Given the description of an element on the screen output the (x, y) to click on. 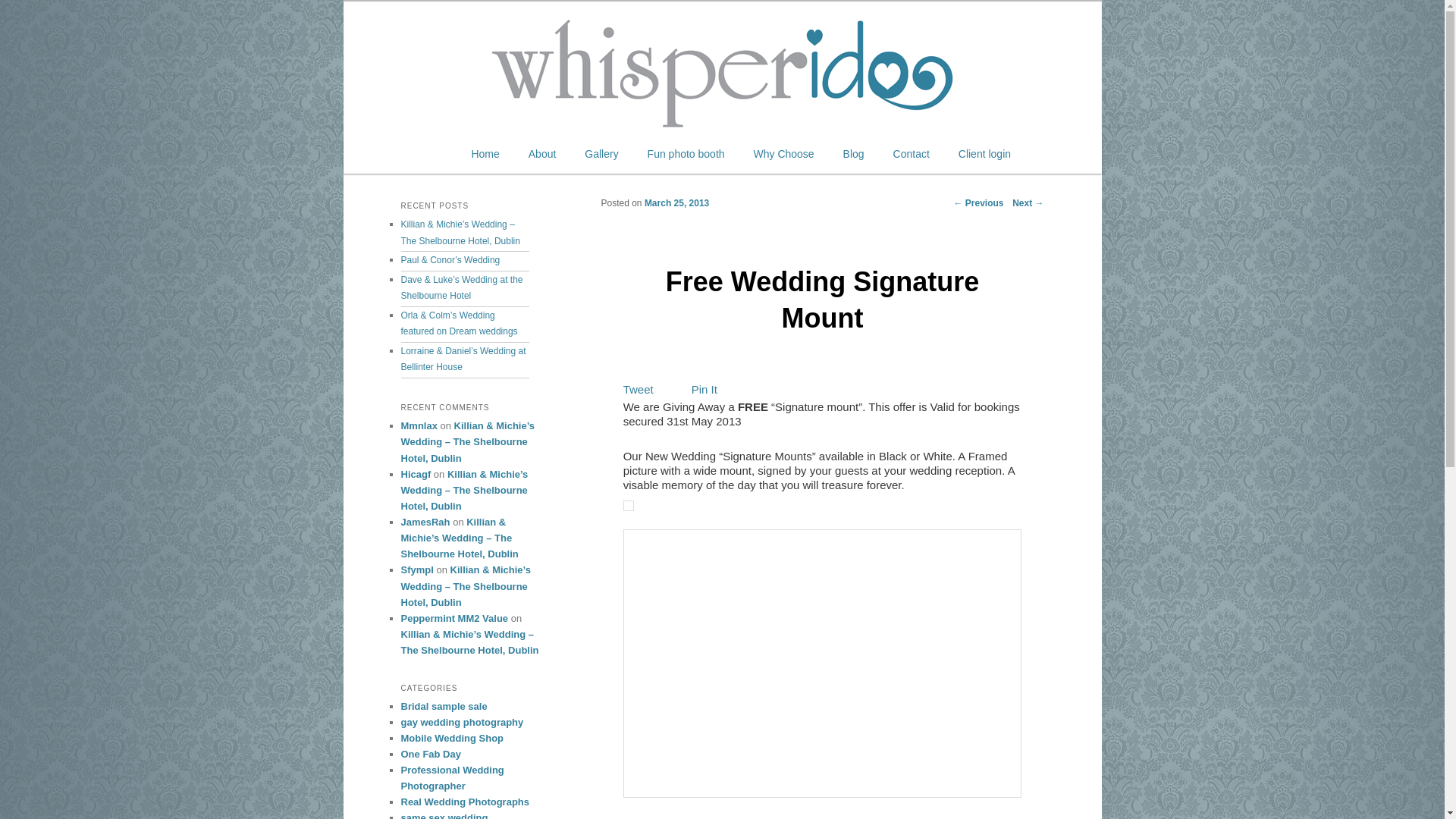
Skip to secondary content (417, 153)
Skip to primary content (411, 153)
Contact (911, 153)
Pin It (704, 389)
Home (485, 153)
March 25, 2013 (677, 203)
Home Interiors, Dublin, Ireland (822, 647)
About (542, 153)
Gallery (601, 153)
Signature Mount (628, 505)
Client login (983, 153)
Tweet (638, 389)
Blog (853, 153)
Fun photo booth (686, 153)
Skip to secondary content (417, 153)
